Given the description of an element on the screen output the (x, y) to click on. 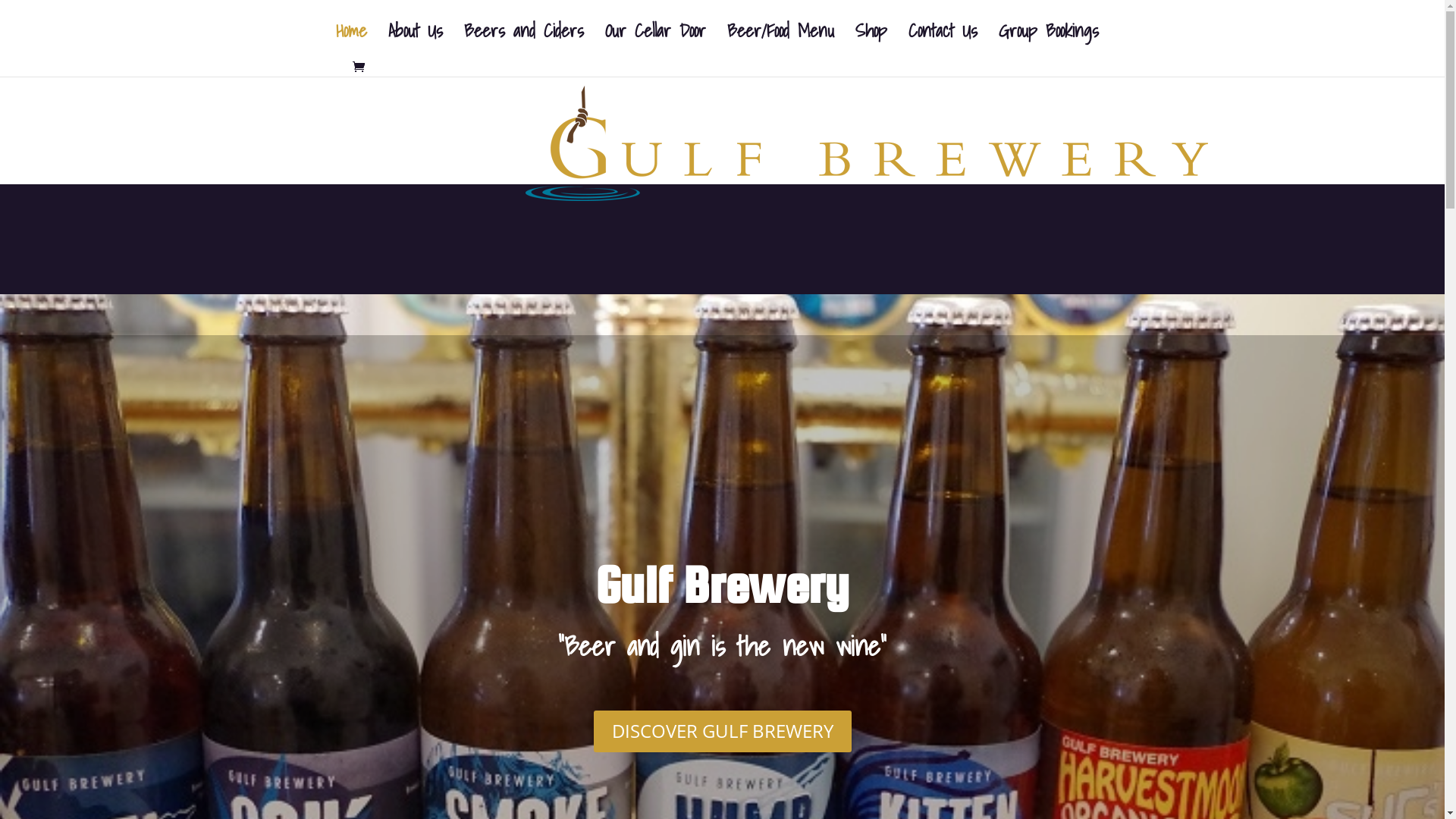
Home Element type: text (350, 42)
Contact Us Element type: text (942, 42)
About Us Element type: text (415, 42)
Beers and Ciders Element type: text (523, 42)
Group Bookings Element type: text (1047, 42)
Our Cellar Door Element type: text (655, 42)
Shop Element type: text (871, 42)
DISCOVER GULF BREWERY Element type: text (721, 731)
Beer/Food Menu Element type: text (779, 42)
